Given the description of an element on the screen output the (x, y) to click on. 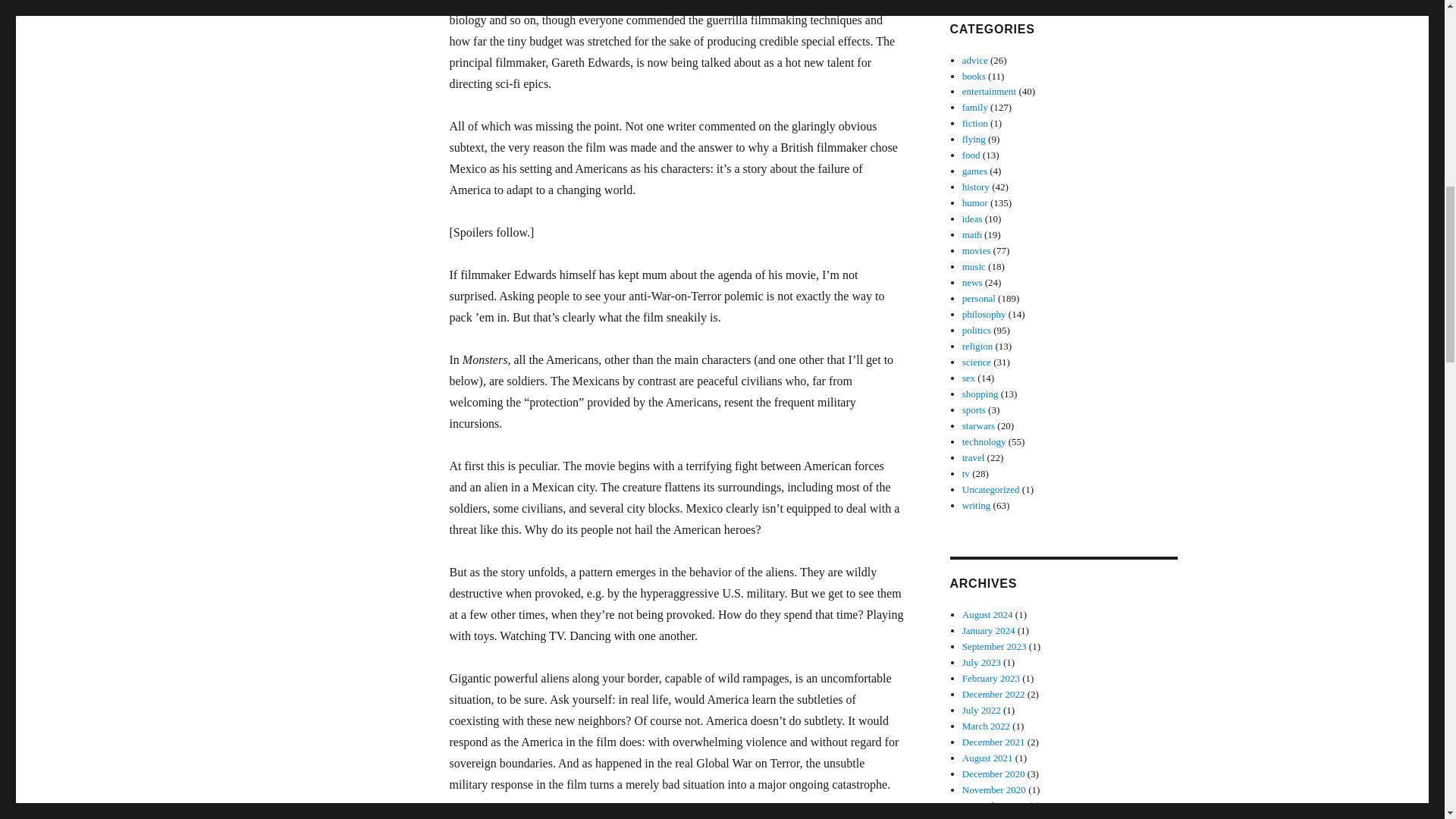
books (973, 75)
ideas (972, 218)
humor (975, 202)
history (976, 186)
flying (973, 138)
fiction (975, 122)
food (970, 154)
games (974, 170)
entertainment (989, 91)
advice (975, 60)
